Given the description of an element on the screen output the (x, y) to click on. 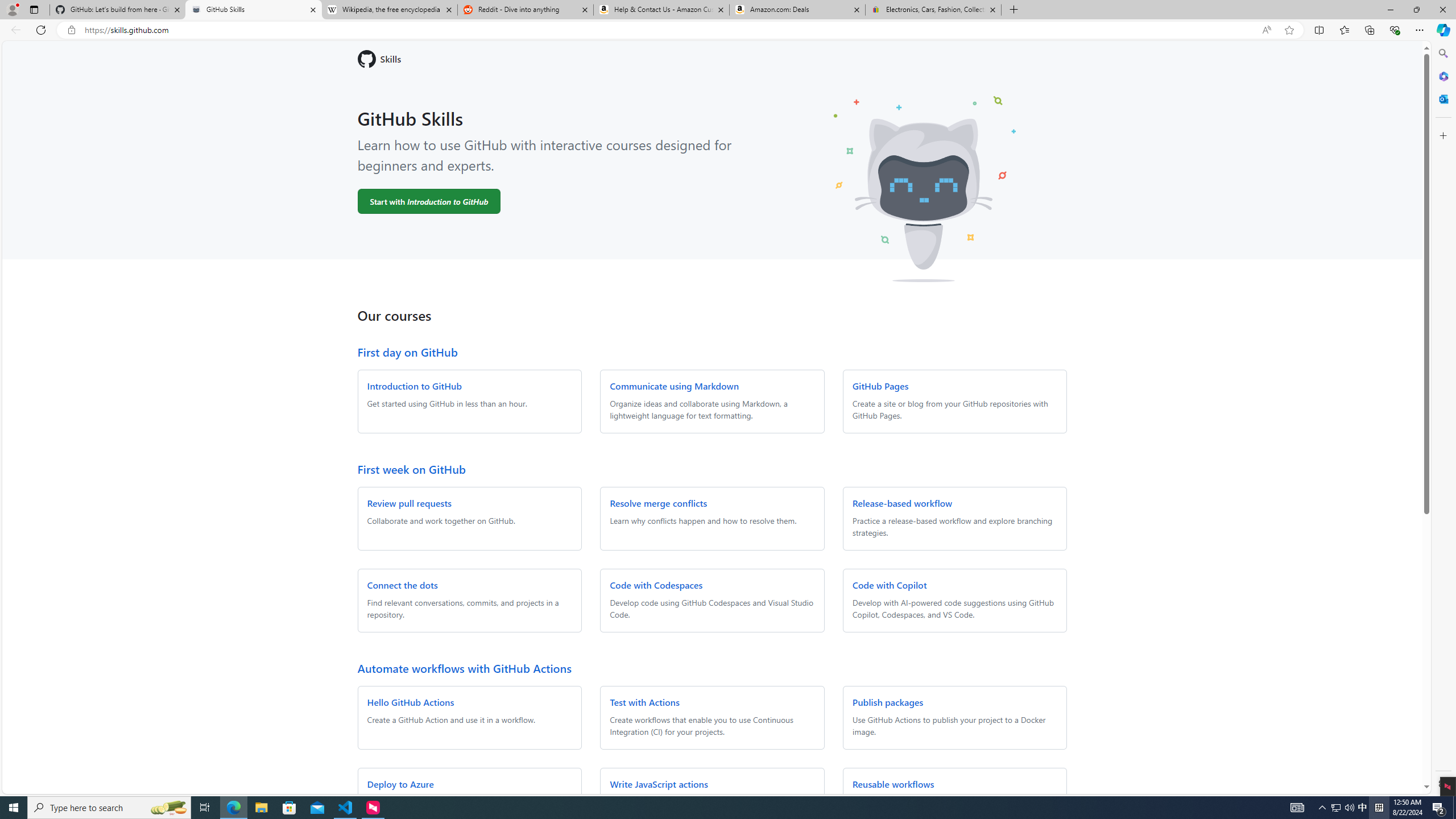
Connect the dots (402, 585)
GitHub Pages (879, 385)
Code with Copilot (889, 585)
Code with Codespaces (656, 585)
